Given the description of an element on the screen output the (x, y) to click on. 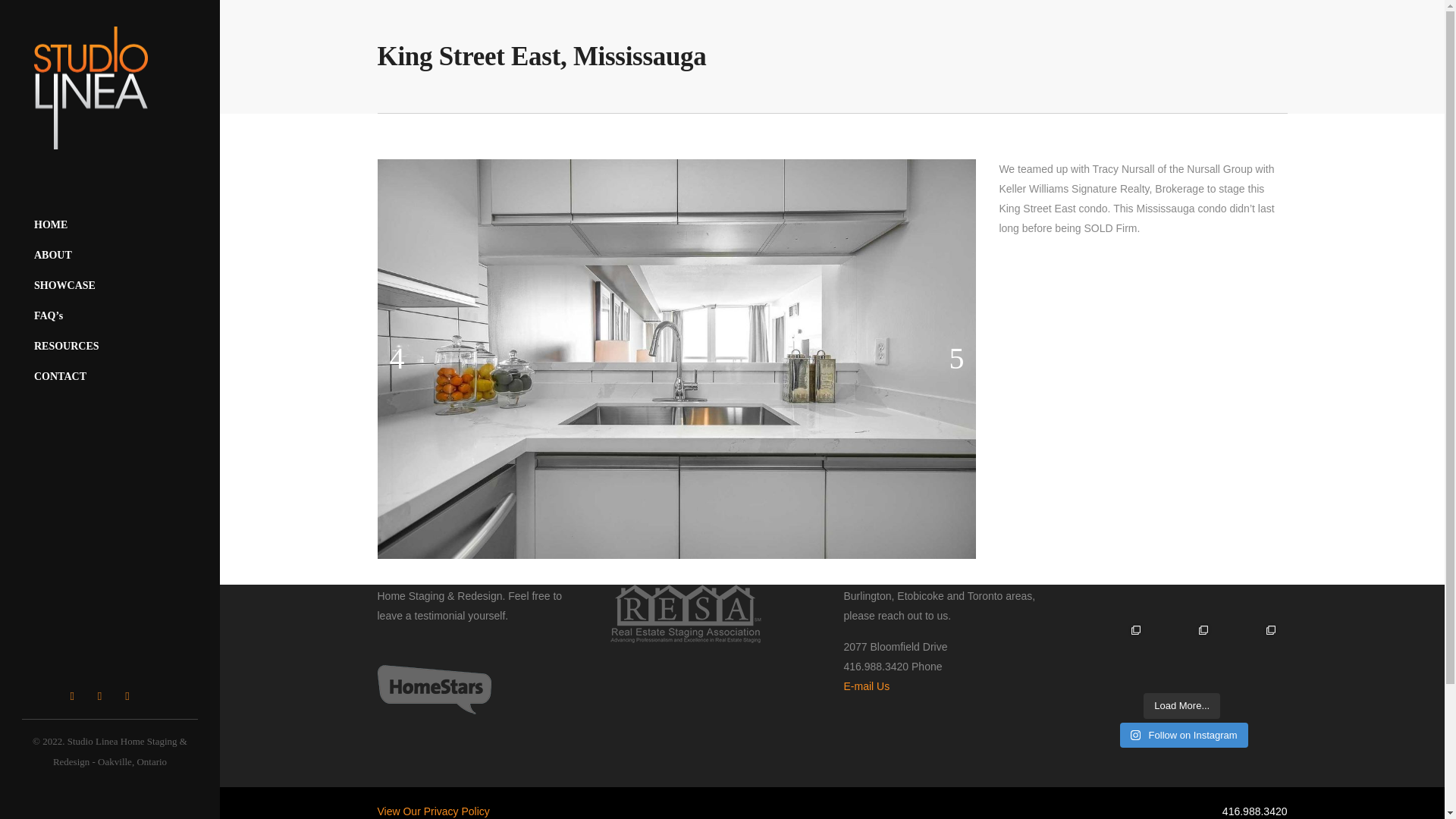
Read Our Endorsements on Home Stars (434, 710)
Load More... (1181, 705)
CONTACT (109, 376)
View Our Privacy Policy (433, 811)
SHOWCASE (109, 286)
Follow on Instagram (1183, 735)
HOME (109, 224)
RESOURCES (109, 346)
E-mail Us (866, 686)
ABOUT (109, 255)
